Given the description of an element on the screen output the (x, y) to click on. 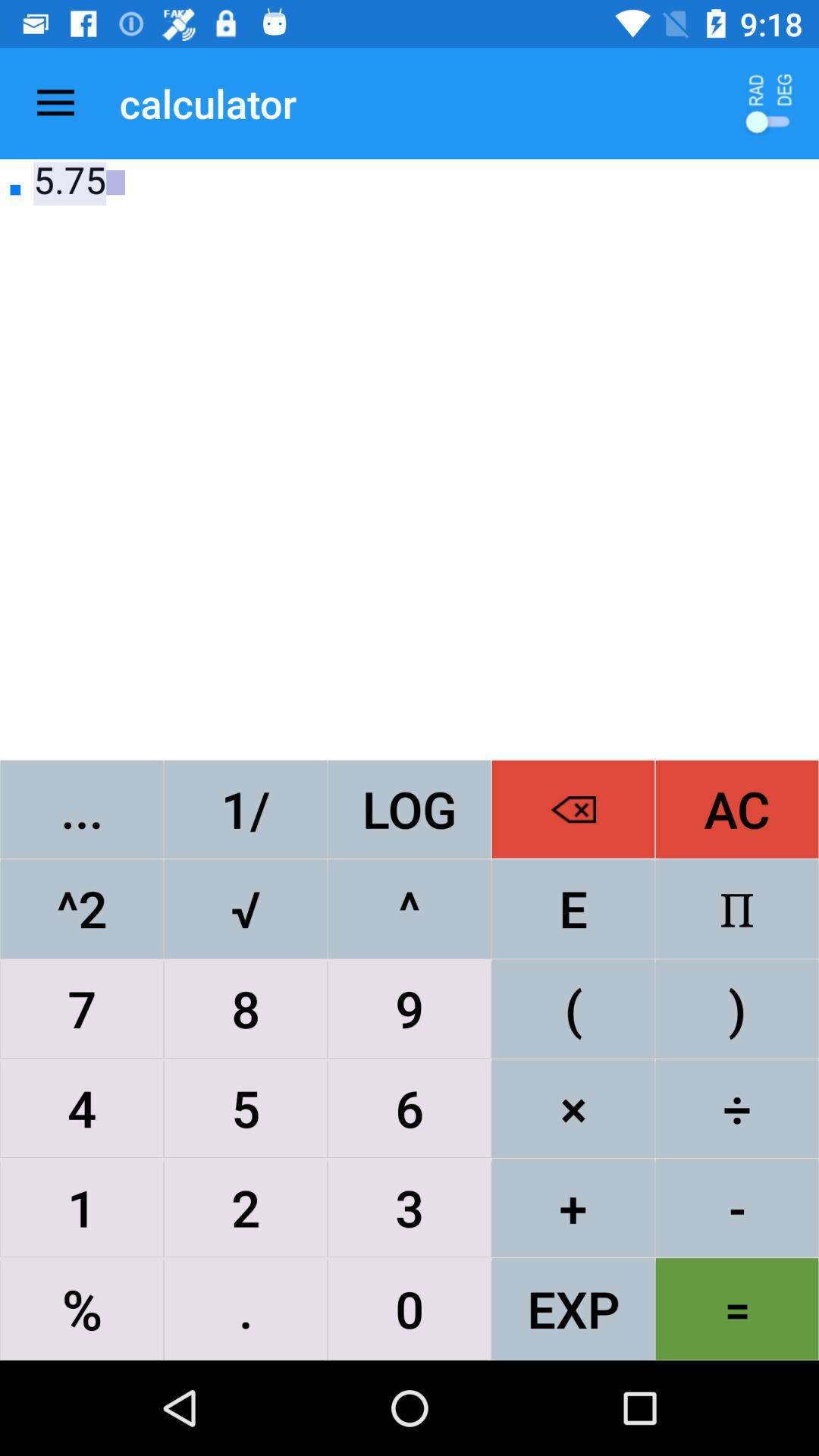
open the item to the right of the log icon (572, 809)
